Given the description of an element on the screen output the (x, y) to click on. 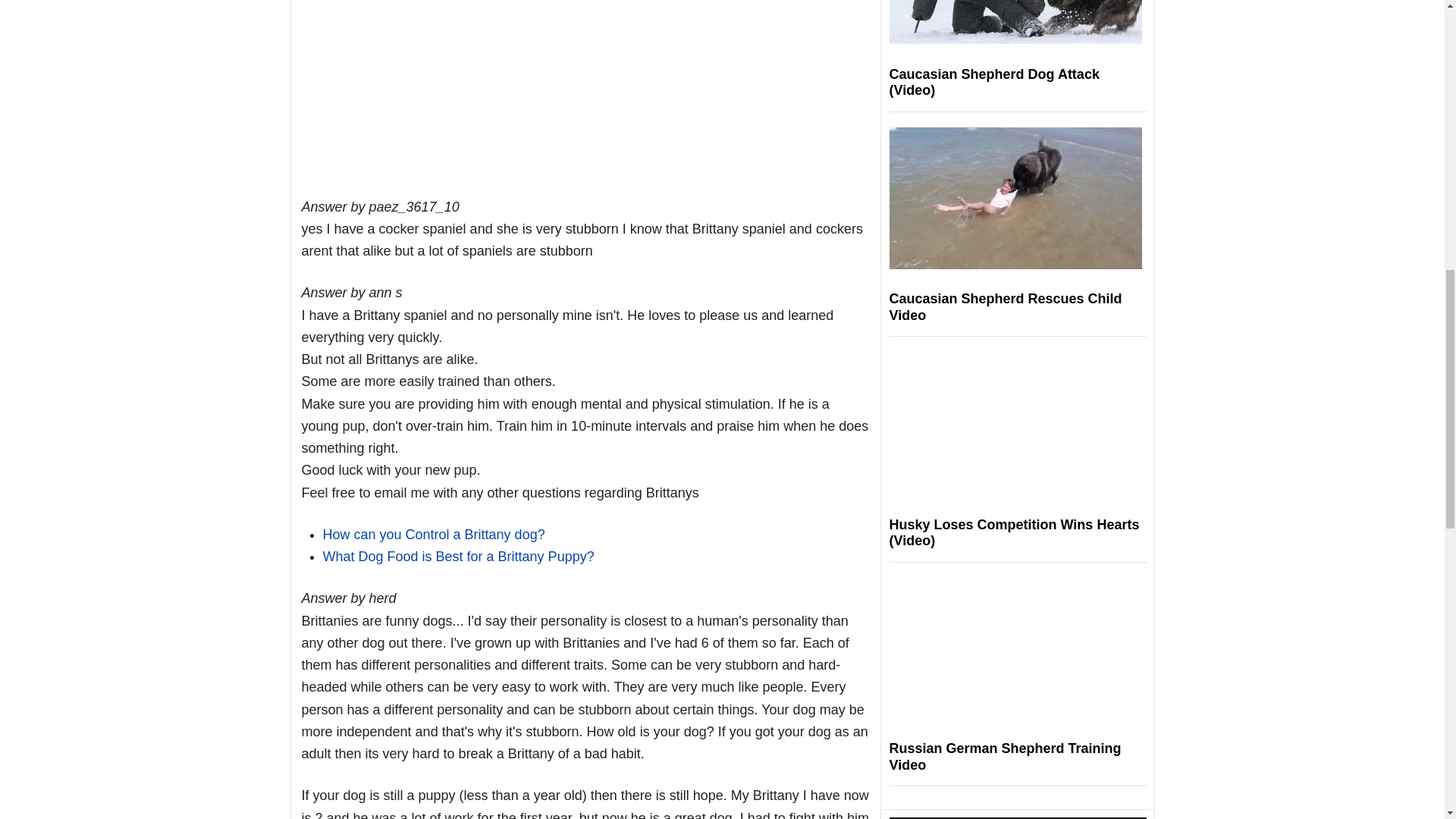
What Dog Food is Best for a Brittany Puppy? (458, 556)
Caucasian Shepherd Rescues Child Video (1004, 306)
Advertisement (585, 88)
How can you Control a Brittany dog? (433, 534)
